Given the description of an element on the screen output the (x, y) to click on. 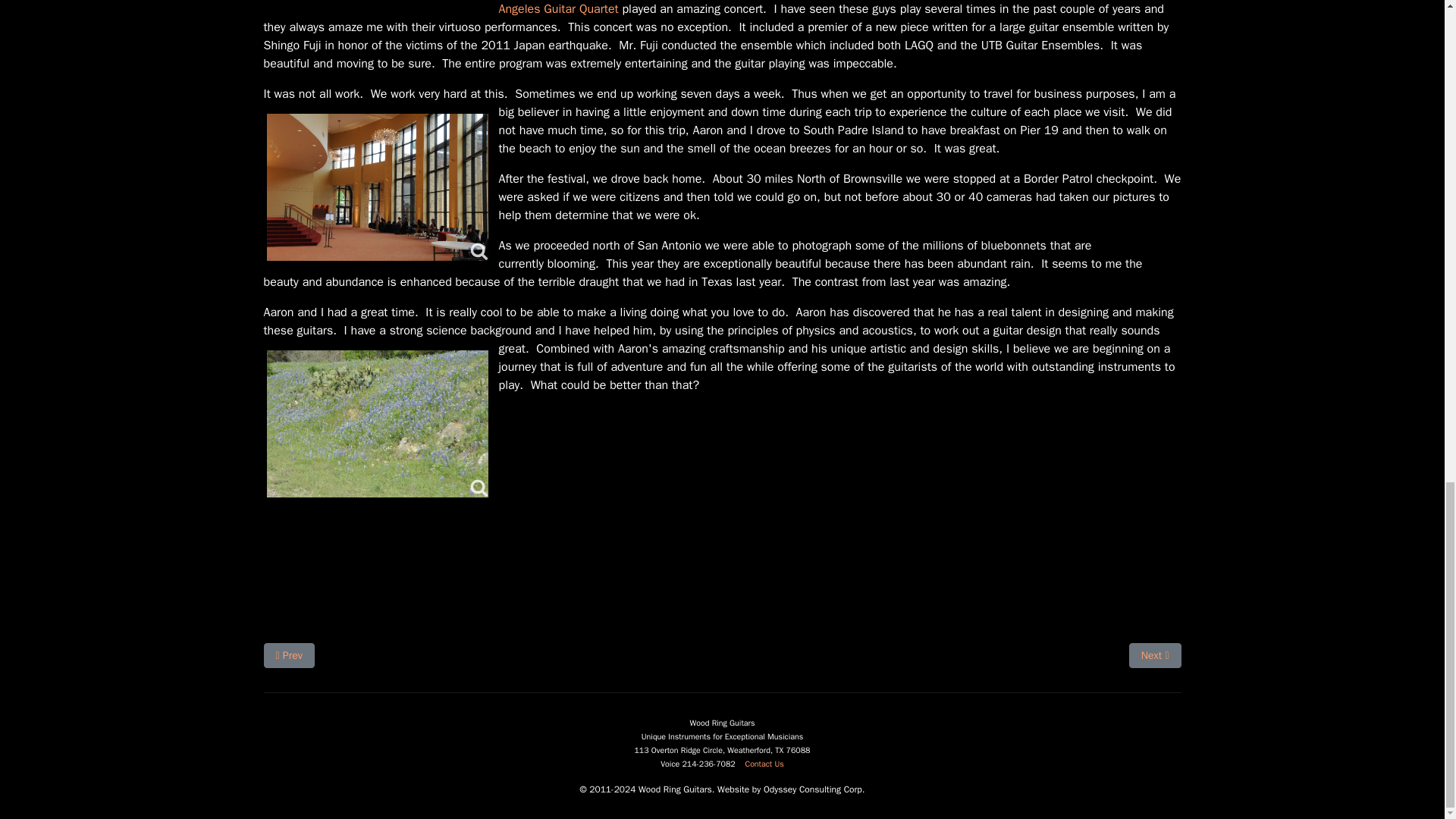
Arts Center Foyer of Auditorium (377, 186)
Contact Us (1154, 655)
9302-Bluebonnets and Cactus (764, 764)
Los Angeles Guitar Quartet (377, 423)
Los Angeles Guitar Quartet (823, 8)
